Given the description of an element on the screen output the (x, y) to click on. 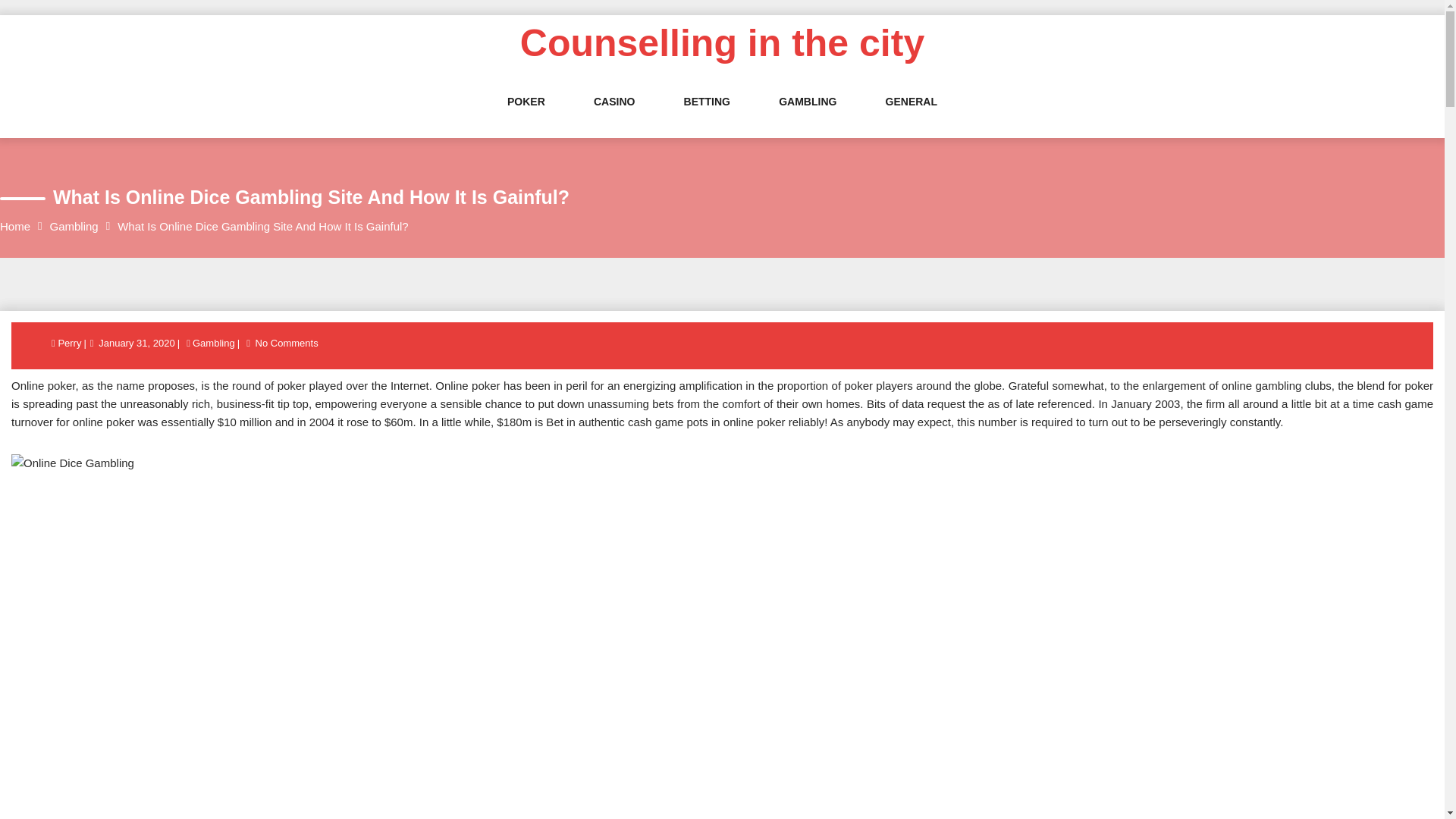
Gambling (74, 226)
January 31, 2020 (136, 342)
BETTING (707, 116)
POKER (525, 116)
GENERAL (911, 116)
Gambling (213, 342)
GAMBLING (806, 116)
CASINO (614, 116)
Home (15, 226)
No Comments (286, 342)
Perry (70, 342)
Counselling in the city (721, 43)
